Given the description of an element on the screen output the (x, y) to click on. 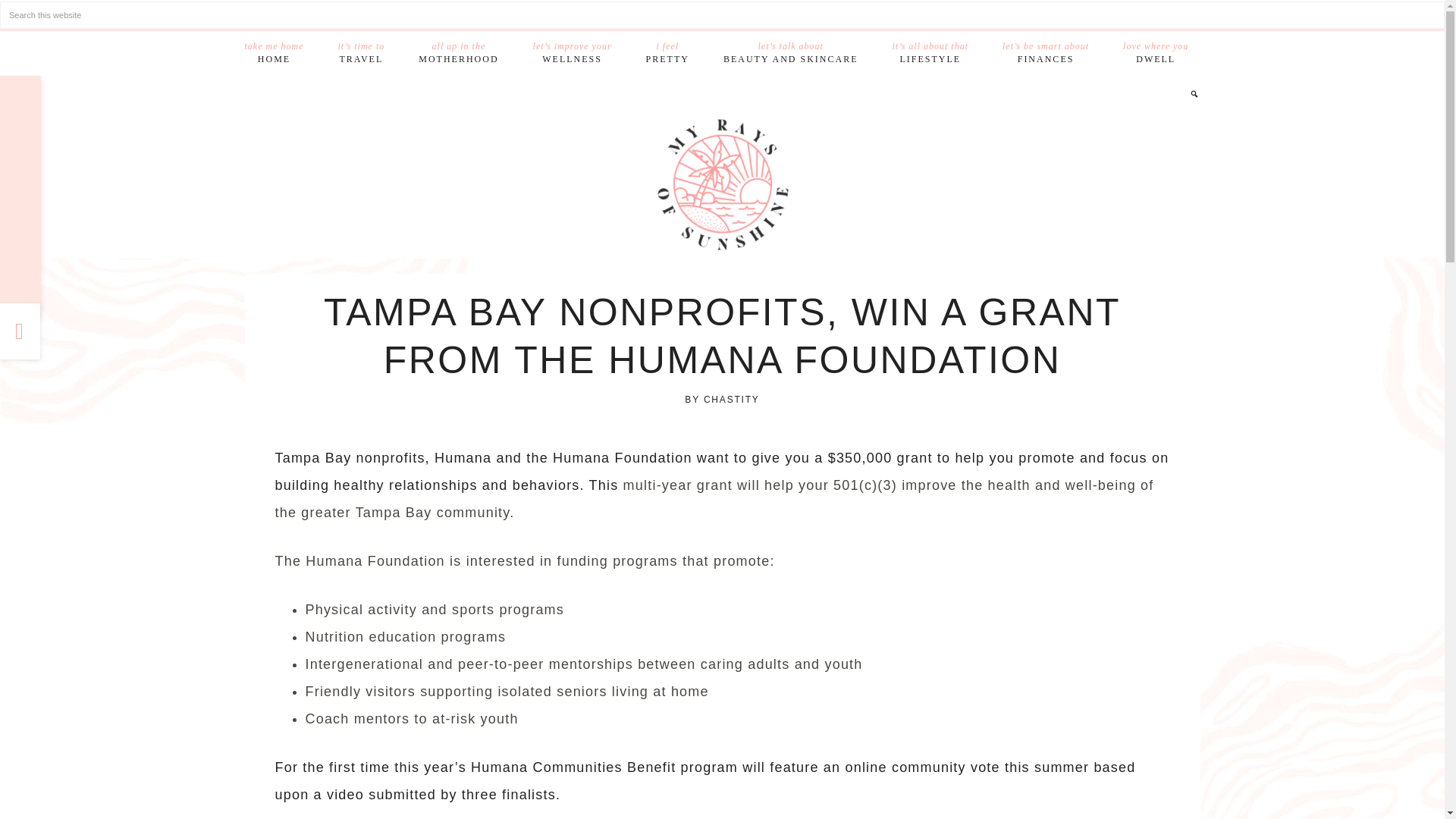
MY RAYS OF SUNSHINE (722, 183)
i feel (667, 52)
CHASTITY (273, 52)
